Given the description of an element on the screen output the (x, y) to click on. 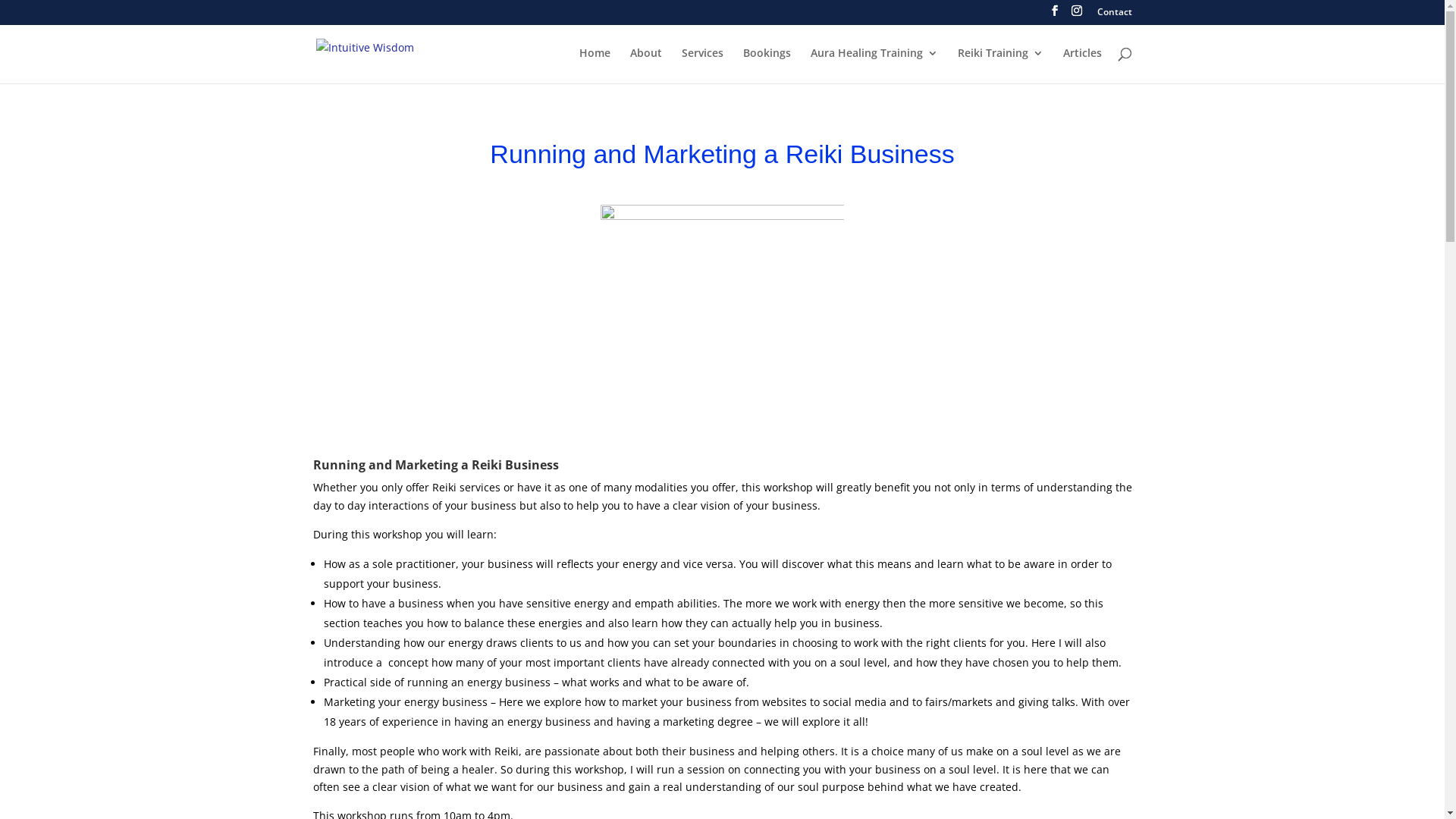
Contact Element type: text (1113, 15)
Bookings Element type: text (766, 65)
Articles Element type: text (1082, 65)
Home Element type: text (594, 65)
Reiki Training Element type: text (999, 65)
About Element type: text (645, 65)
Services Element type: text (701, 65)
Aura Healing Training Element type: text (873, 65)
